Given the description of an element on the screen output the (x, y) to click on. 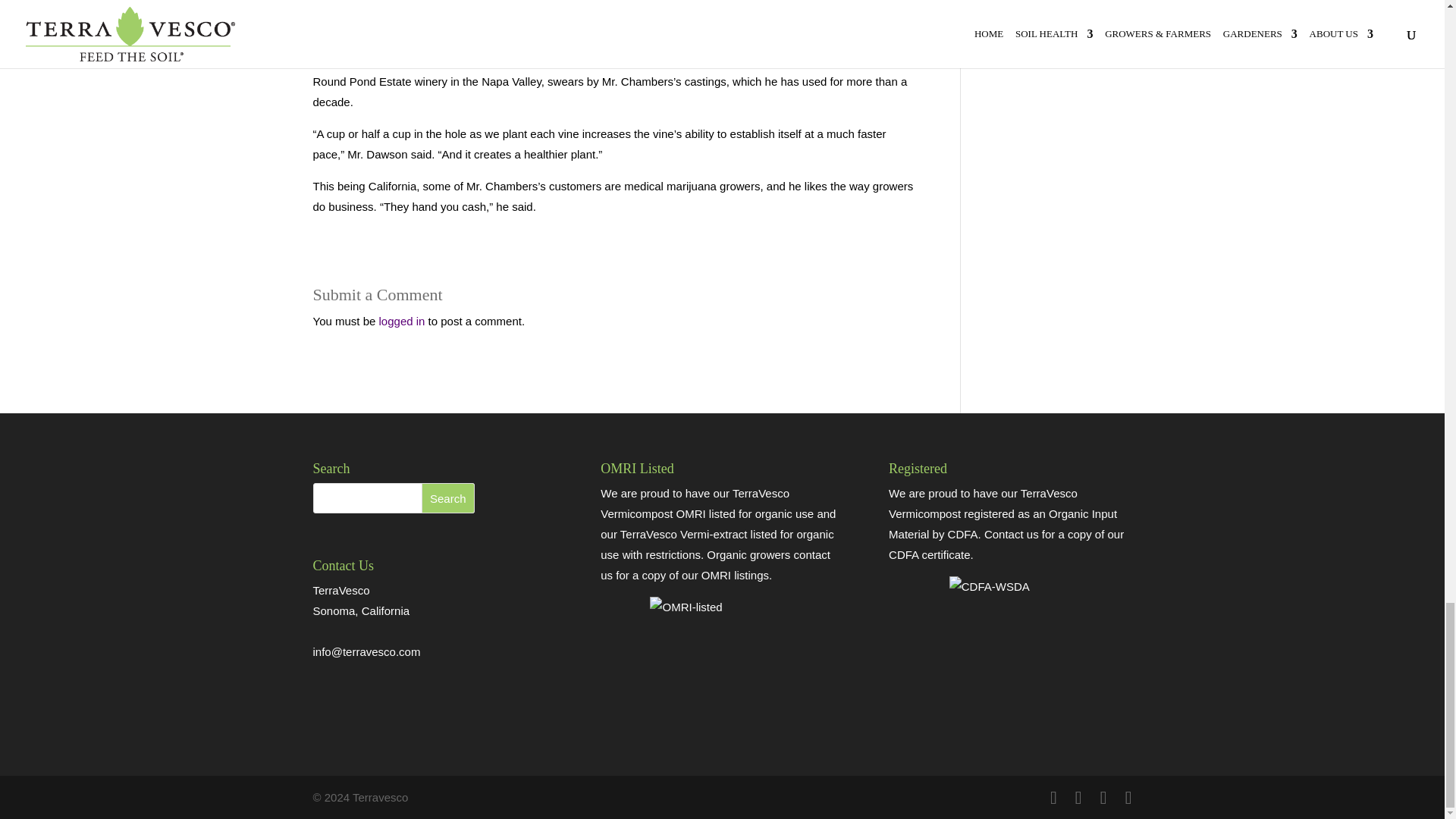
Search (448, 498)
Search (448, 498)
logged in (401, 320)
